Given the description of an element on the screen output the (x, y) to click on. 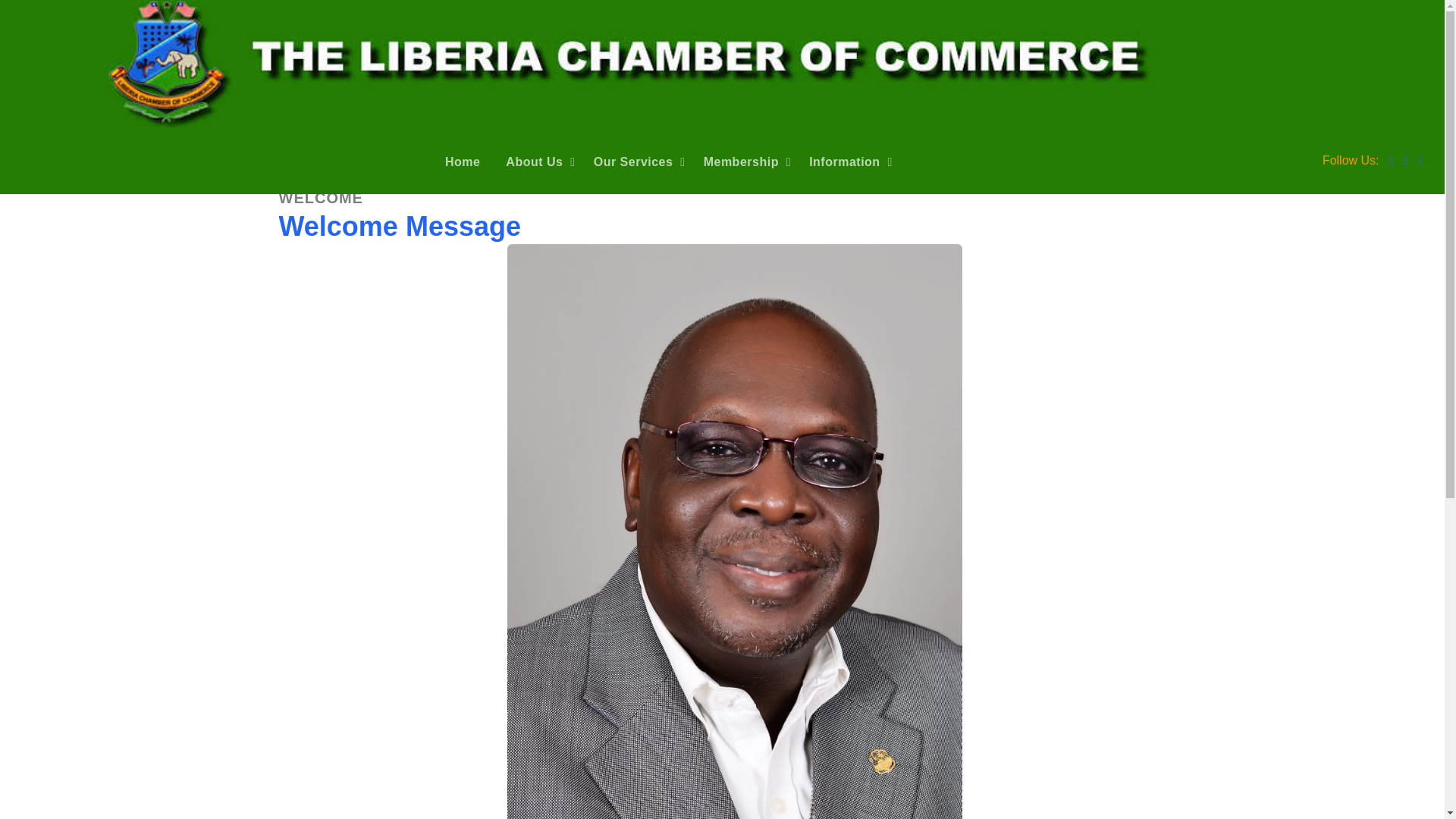
Home   (466, 160)
Membership   (746, 160)
About Us   (540, 160)
Our Services   (639, 160)
Information   (850, 160)
